Given the description of an element on the screen output the (x, y) to click on. 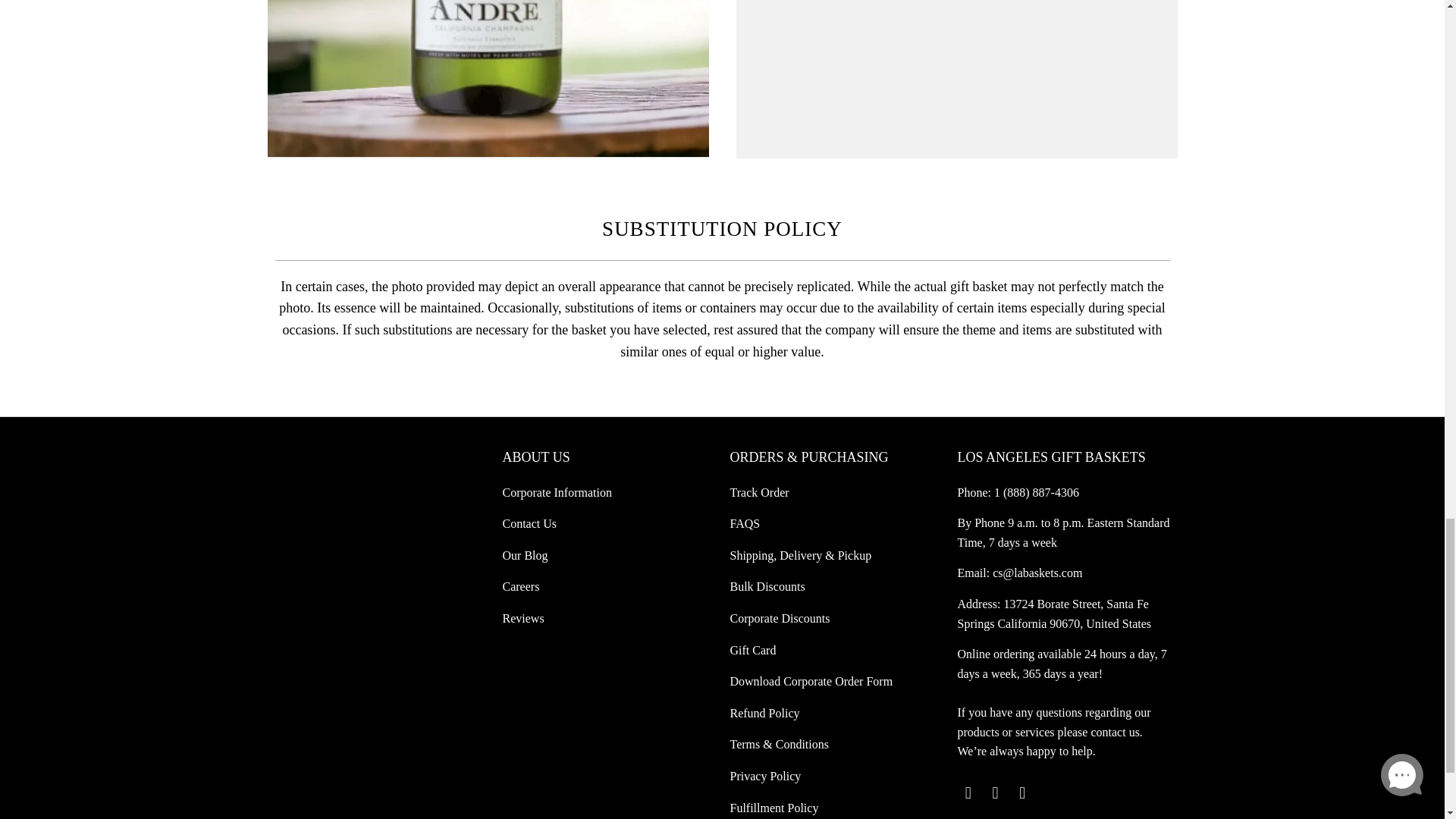
American Andre Brut Champagne (486, 79)
Los Angeles Baskets on Twitter (967, 792)
Los Angeles Baskets on Facebook (995, 792)
Los Angeles Baskets on Instagram (1022, 792)
